Given the description of an element on the screen output the (x, y) to click on. 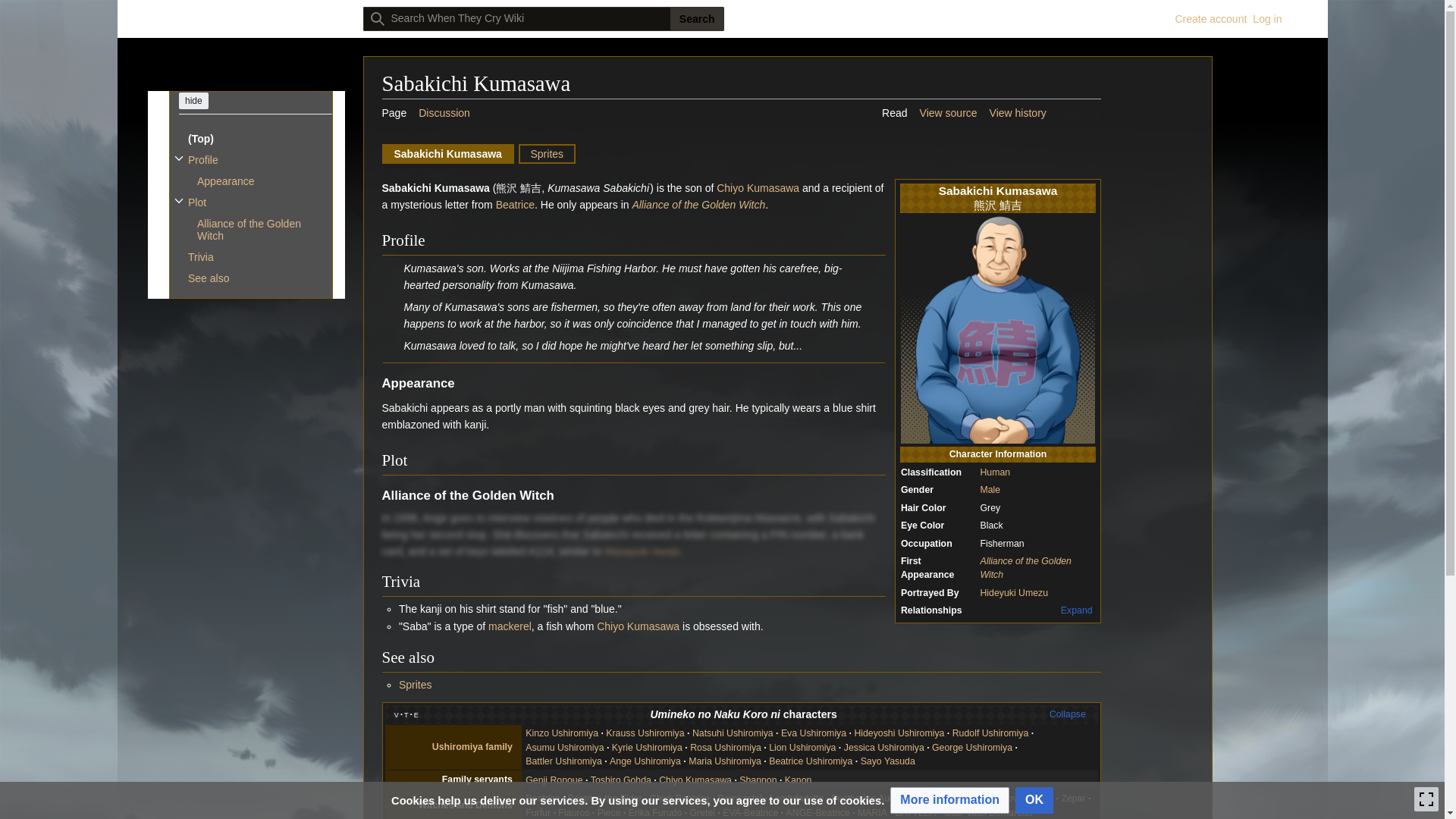
Log in (1266, 19)
Toggle Plot subsection (178, 200)
See also (255, 278)
Plot (255, 201)
Toggle Profile subsection (178, 158)
Create account (1210, 19)
Alliance of the Golden Witch (259, 229)
Profile (255, 159)
Search (696, 18)
Trivia (255, 256)
hide (193, 100)
Appearance (259, 180)
